Given the description of an element on the screen output the (x, y) to click on. 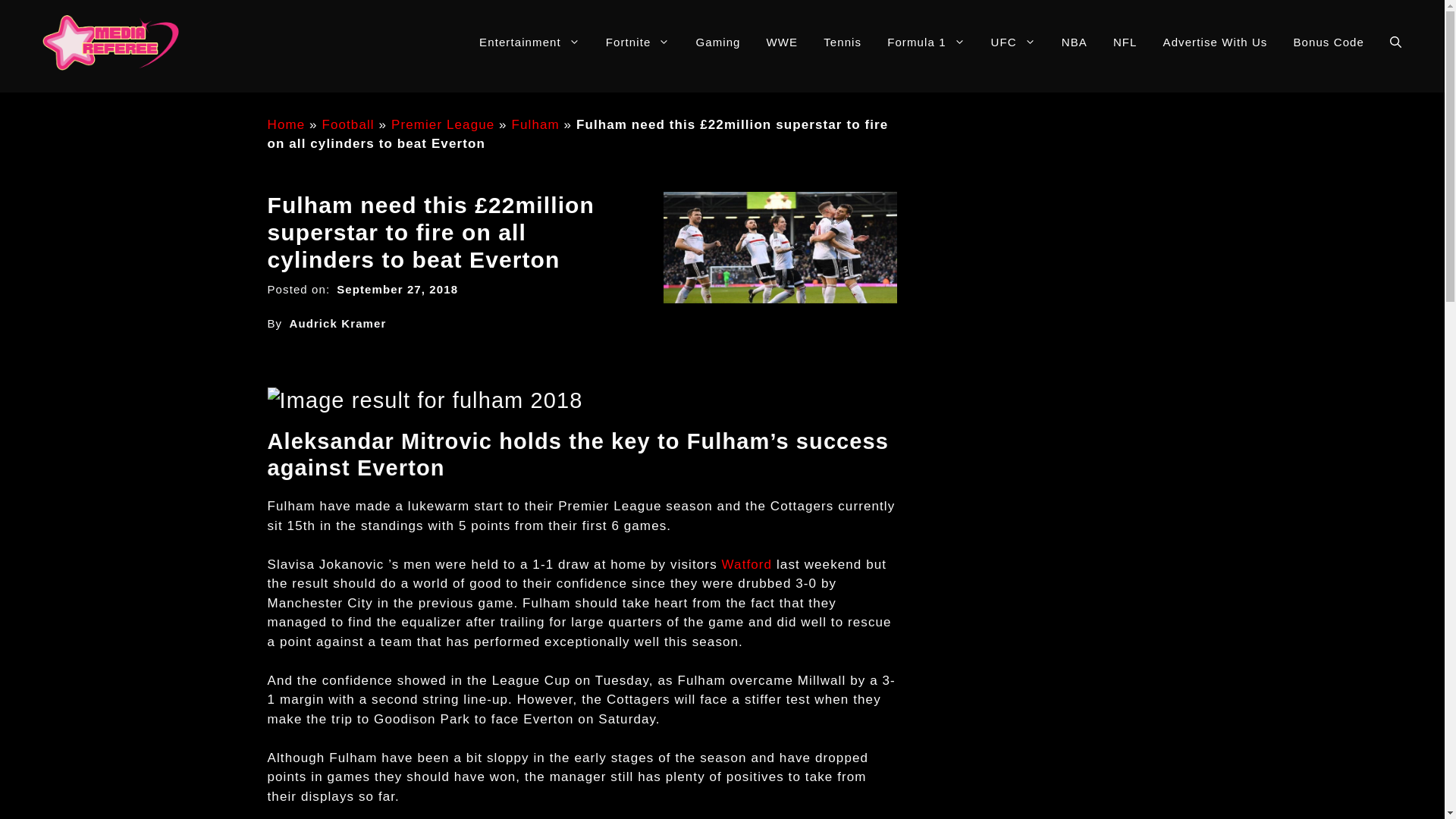
UFC (1013, 42)
Formula 1 (925, 42)
Fortnite (637, 42)
WWE (782, 42)
NBA (1074, 42)
Premier League (443, 124)
Football (347, 124)
Home (285, 124)
Fulham (535, 124)
Gaming (717, 42)
